Given the description of an element on the screen output the (x, y) to click on. 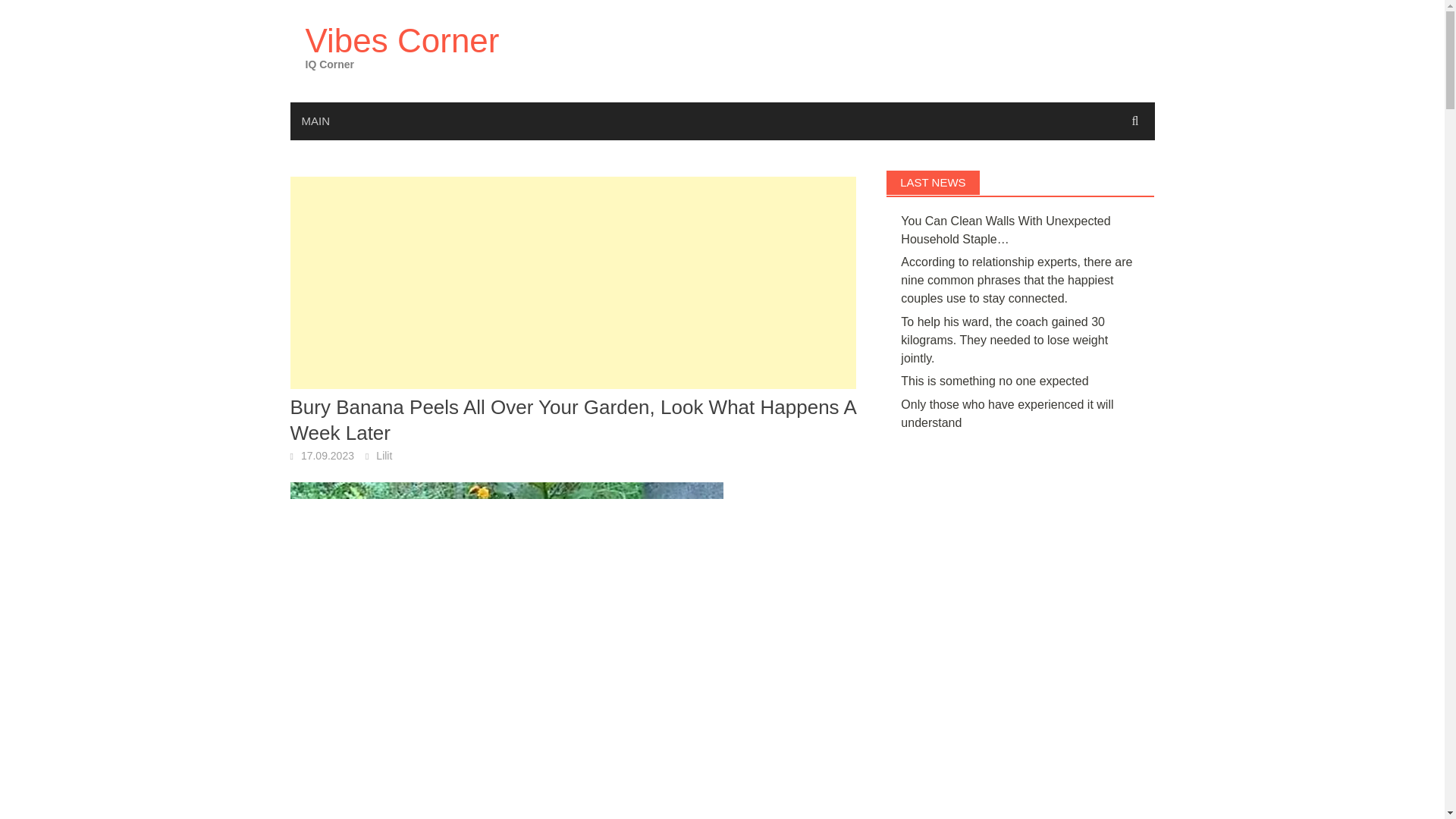
MAIN (314, 121)
Lilit (383, 455)
Vibes Corner (401, 40)
17.09.2023 (327, 455)
Advertisement (572, 282)
This is something no one expected (994, 380)
Only those who have experienced it will understand (1007, 413)
